Given the description of an element on the screen output the (x, y) to click on. 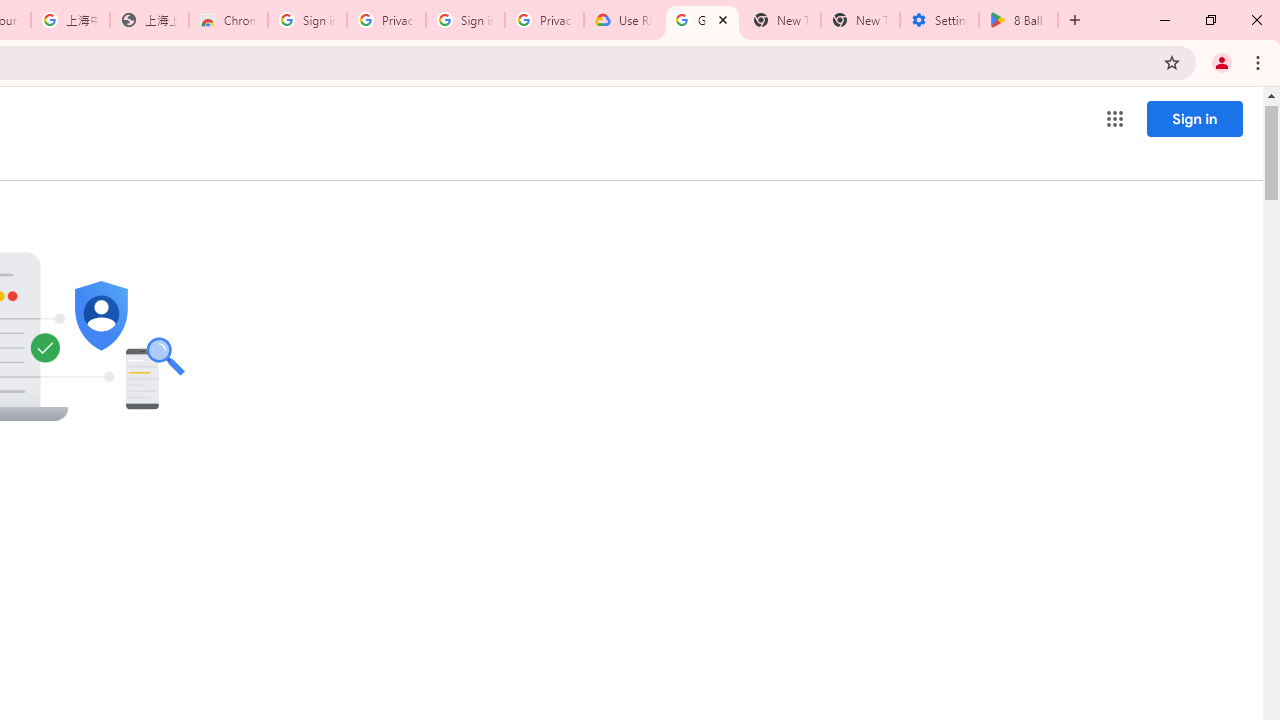
Settings - System (939, 20)
8 Ball Pool - Apps on Google Play (1018, 20)
Sign in - Google Accounts (306, 20)
Chrome Web Store - Color themes by Chrome (228, 20)
New Tab (859, 20)
